Given the description of an element on the screen output the (x, y) to click on. 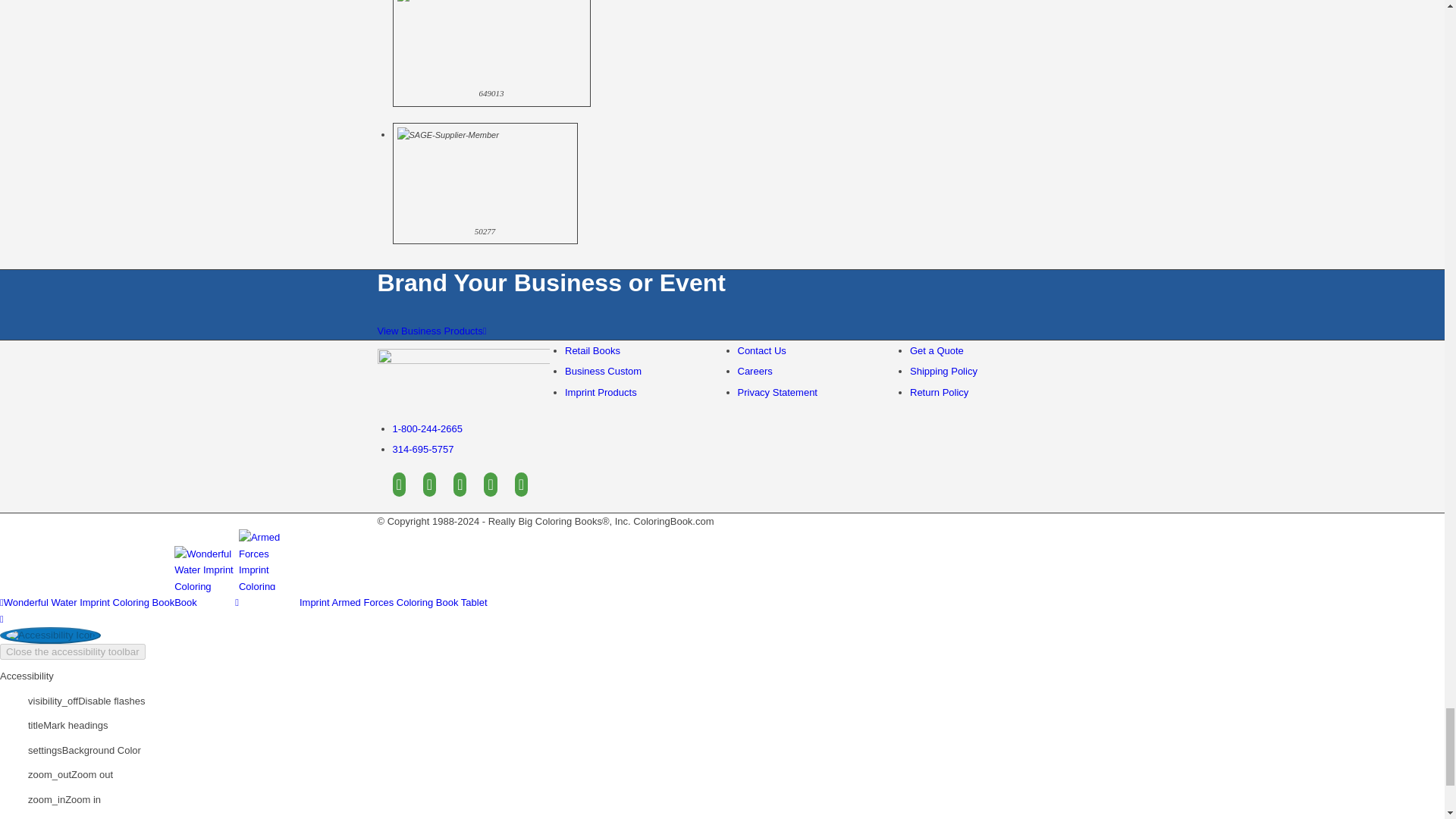
X (429, 484)
Facebook (399, 484)
